Given the description of an element on the screen output the (x, y) to click on. 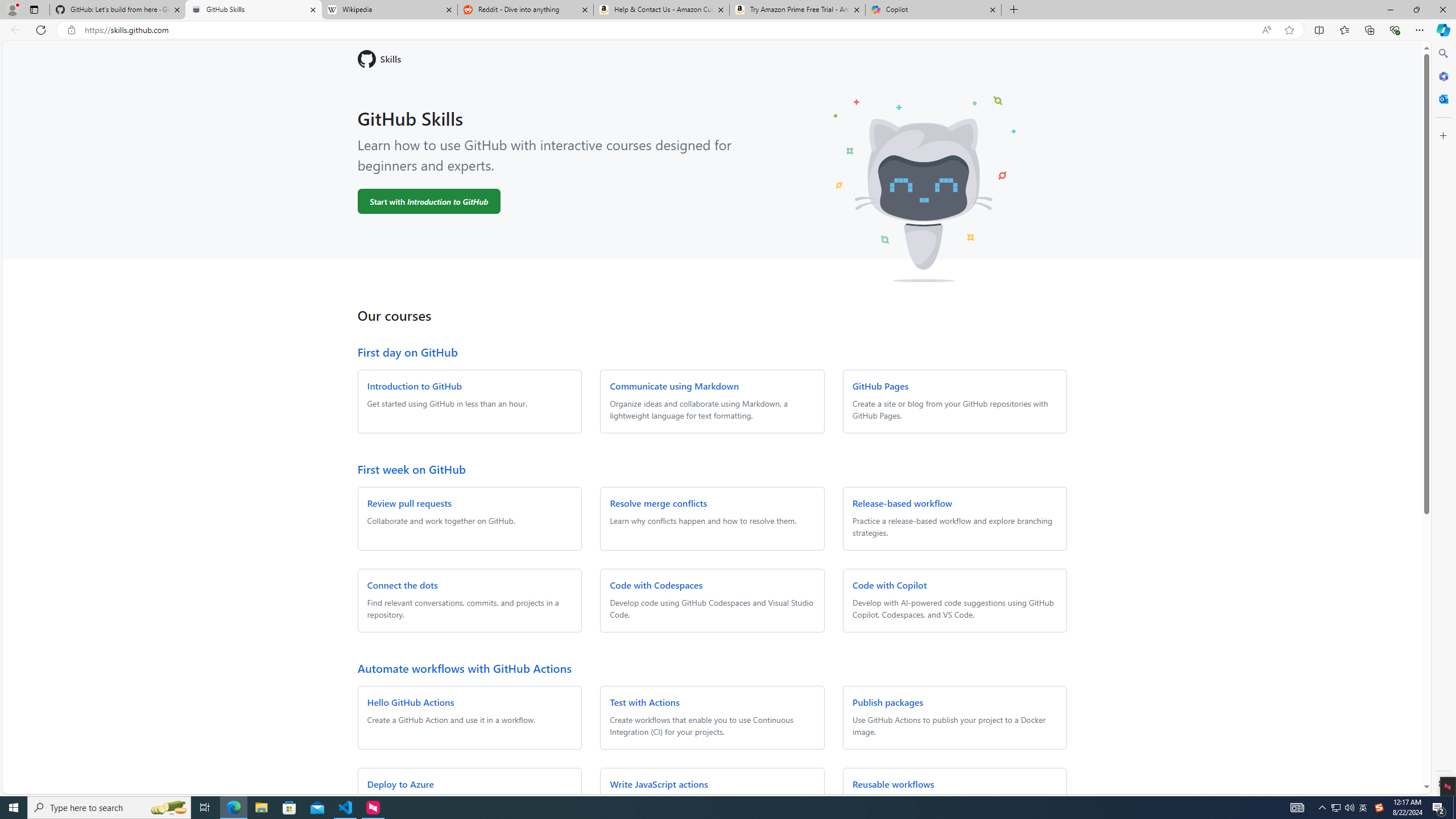
Copilot (933, 9)
Write JavaScript actions (658, 784)
Publish packages (887, 702)
Test with Actions (644, 702)
Connect the dots (402, 585)
Review pull requests (408, 503)
